Given the description of an element on the screen output the (x, y) to click on. 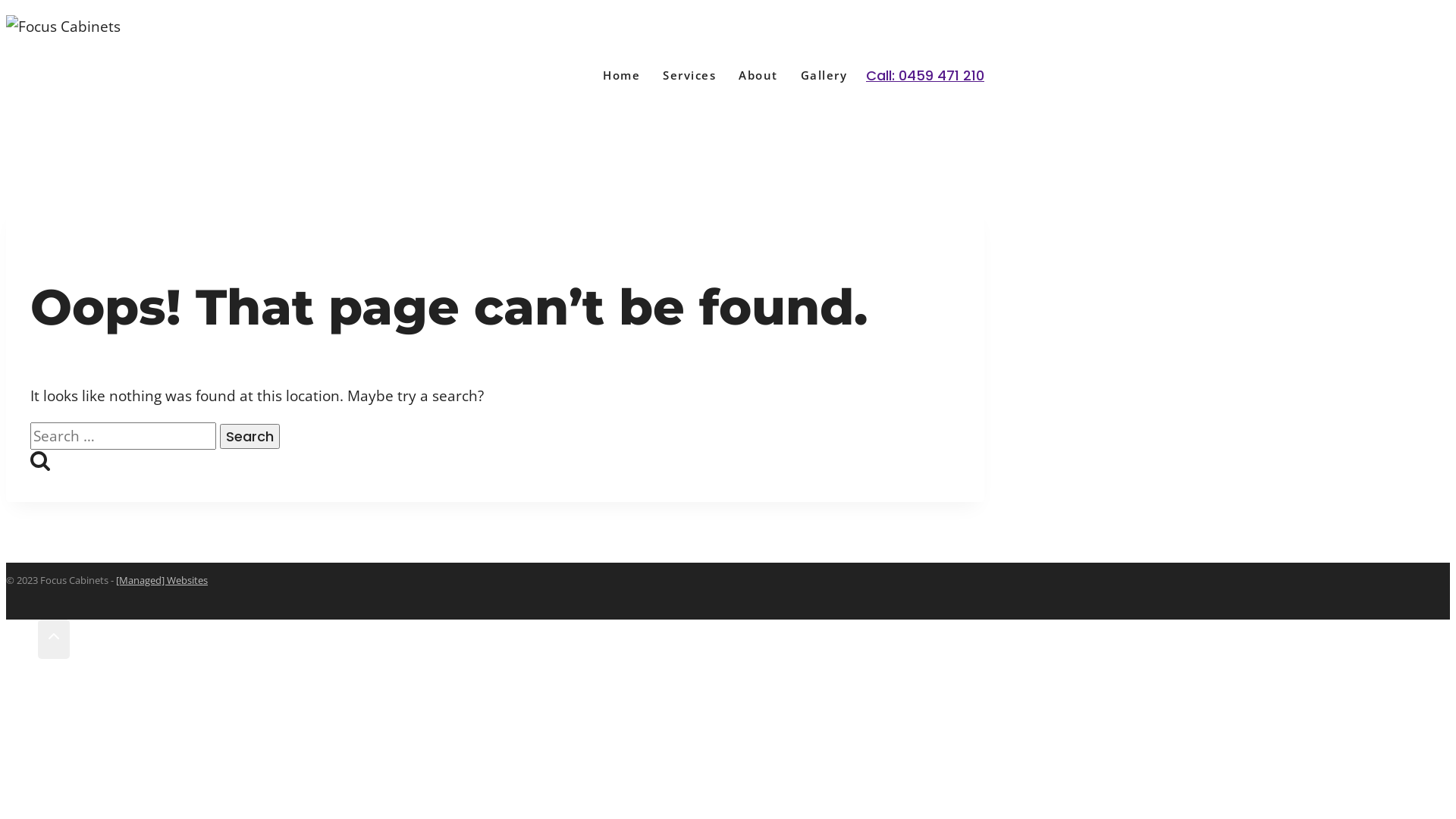
[Managed] Websites Element type: text (161, 579)
About Element type: text (769, 75)
Services Element type: text (700, 75)
Scroll to top Element type: text (21, 638)
Search Element type: text (249, 435)
Call: 0459 471 210 Element type: text (925, 74)
Scroll to top Element type: text (53, 638)
Skip to content Element type: text (5, 5)
Home Element type: text (632, 75)
Gallery Element type: text (834, 75)
